Given the description of an element on the screen output the (x, y) to click on. 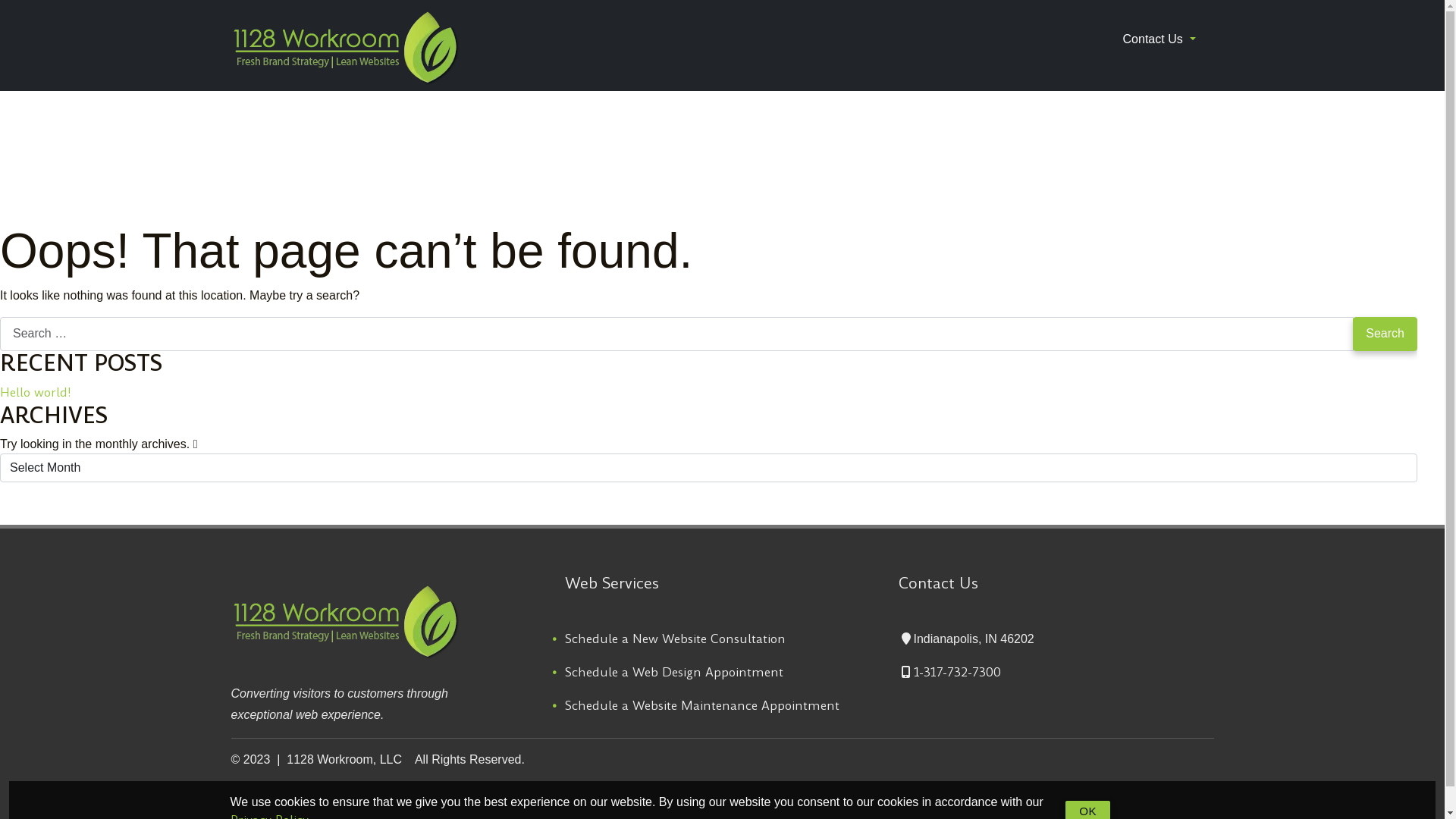
Schedule a Web Design Appointment Element type: text (673, 671)
Hello world! Element type: text (35, 392)
Schedule a New Website Consultation Element type: text (674, 638)
Search Element type: text (1384, 333)
Contact Us Element type: text (1159, 39)
1-317-732-7300 Element type: text (948, 671)
Schedule a Website Maintenance Appointment Element type: text (701, 705)
